Given the description of an element on the screen output the (x, y) to click on. 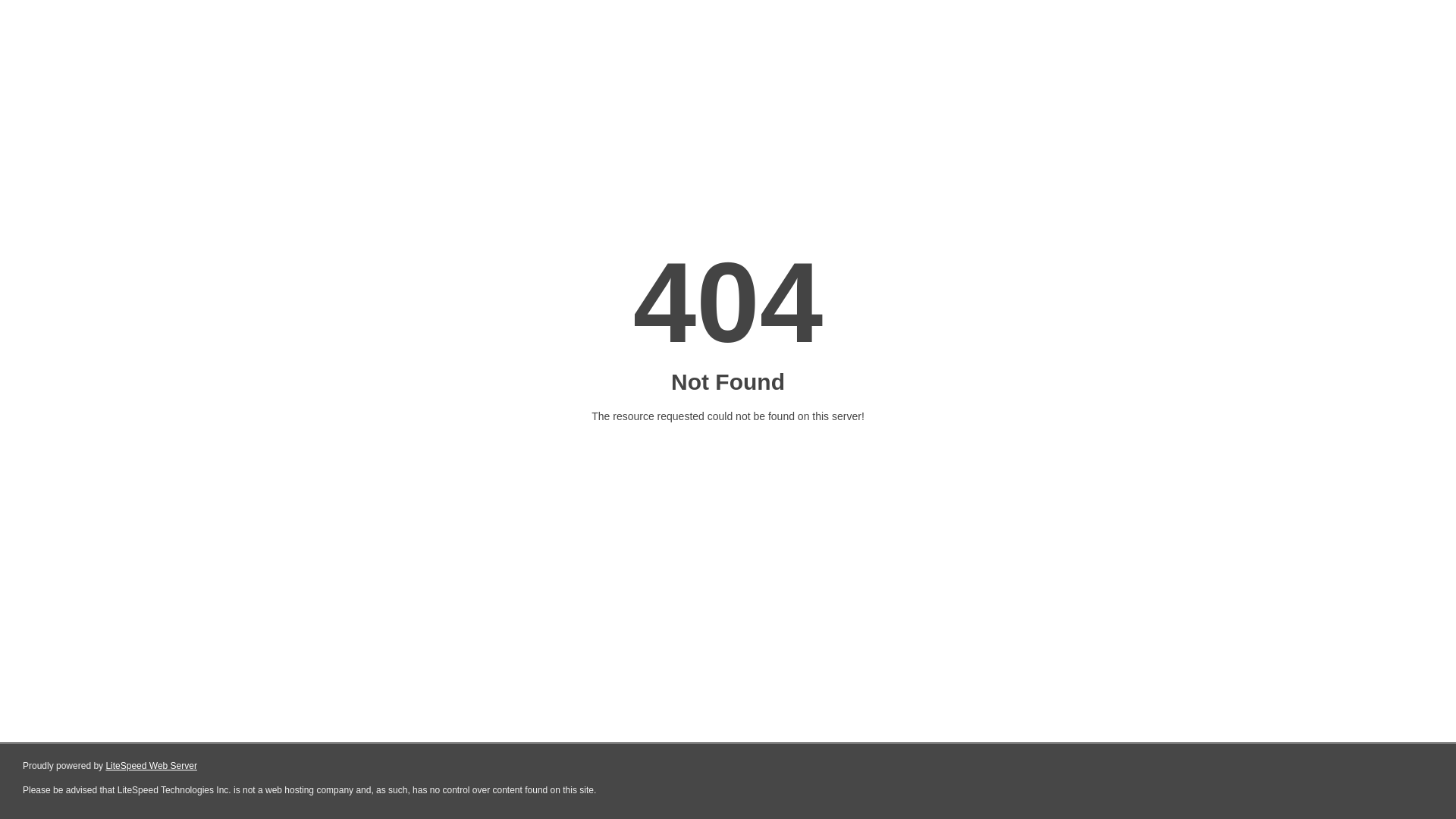
LiteSpeed Web Server Element type: text (151, 765)
